Given the description of an element on the screen output the (x, y) to click on. 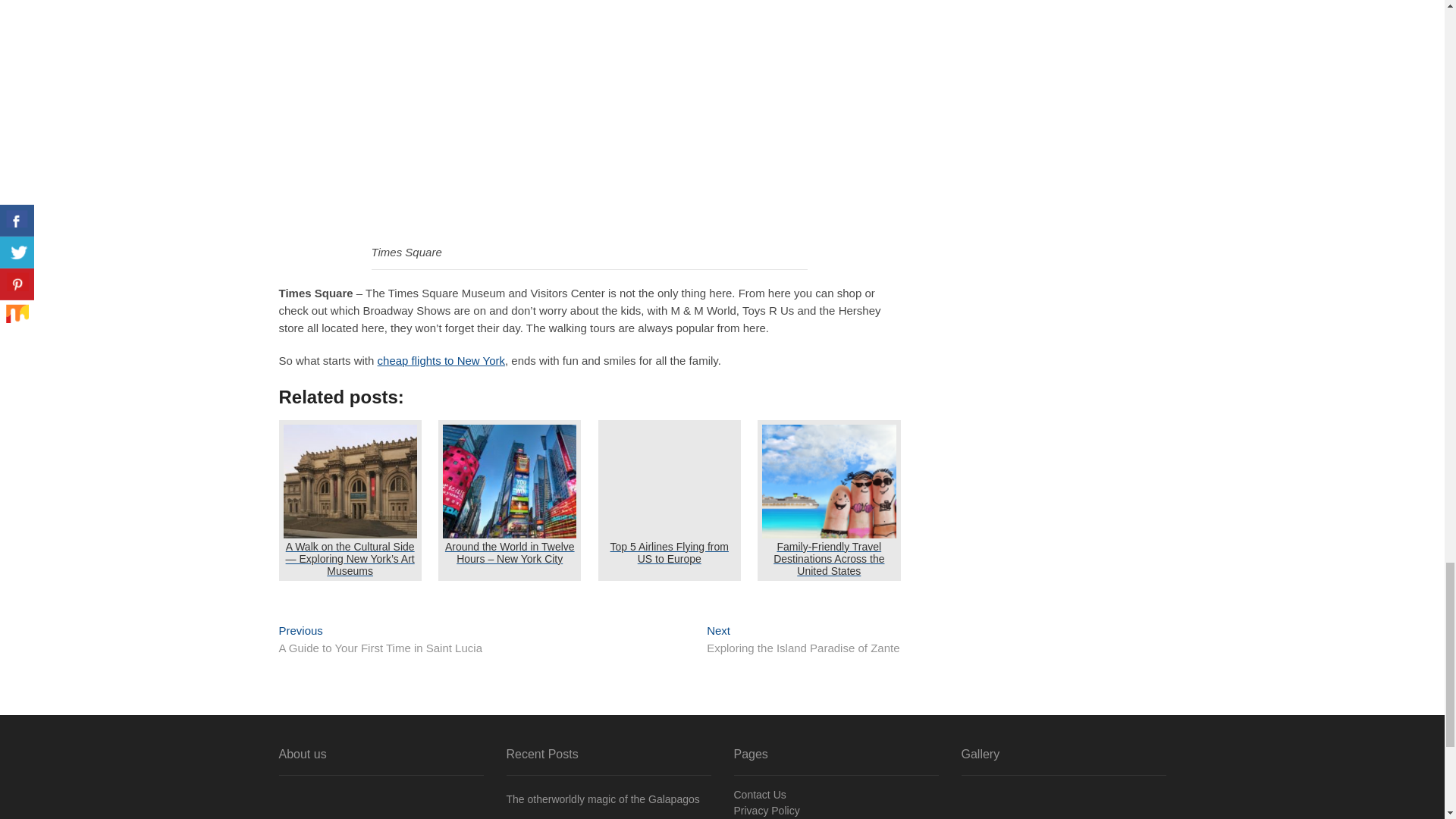
cheap flights to New York (441, 359)
